Given the description of an element on the screen output the (x, y) to click on. 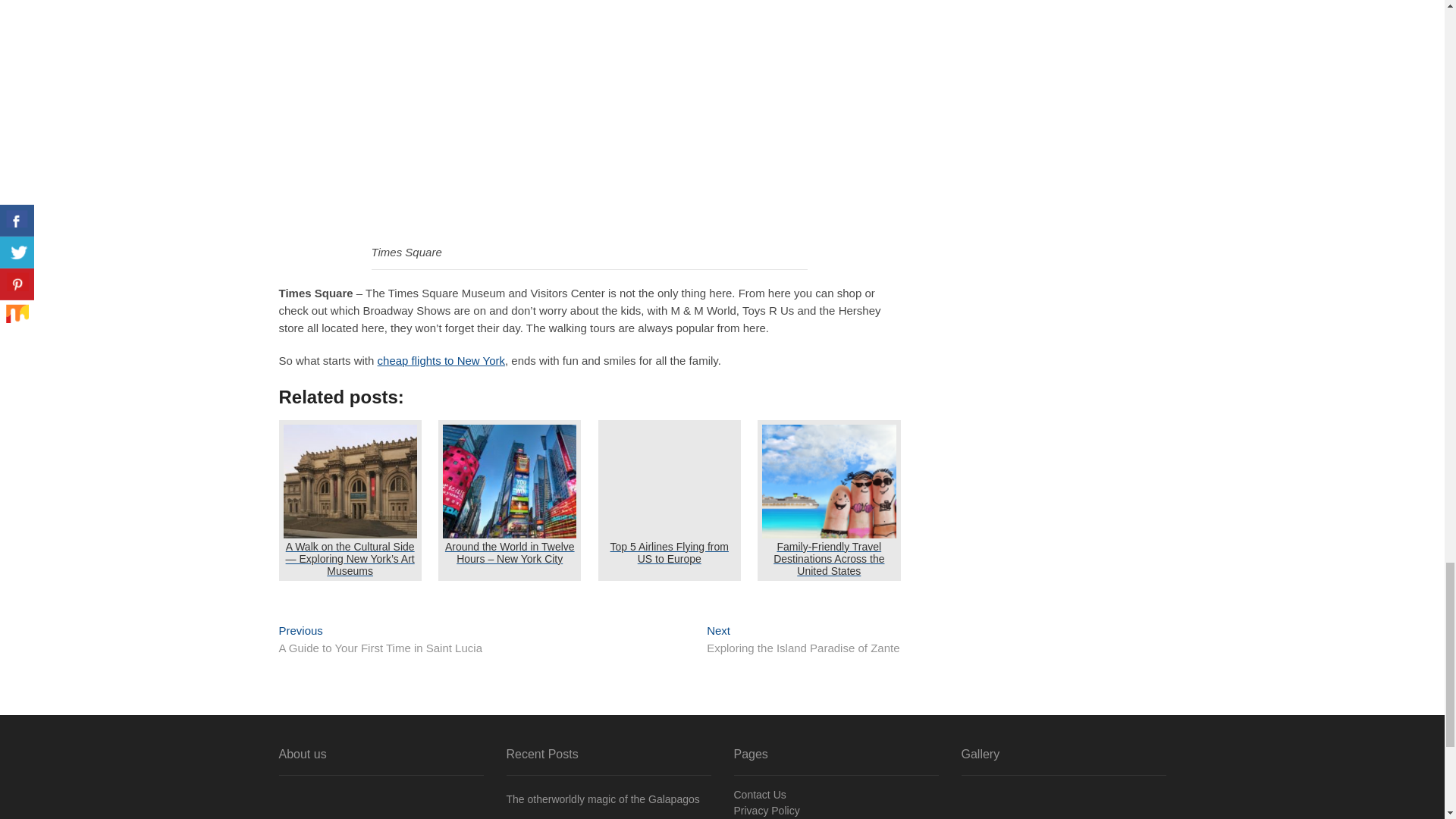
cheap flights to New York (441, 359)
